Given the description of an element on the screen output the (x, y) to click on. 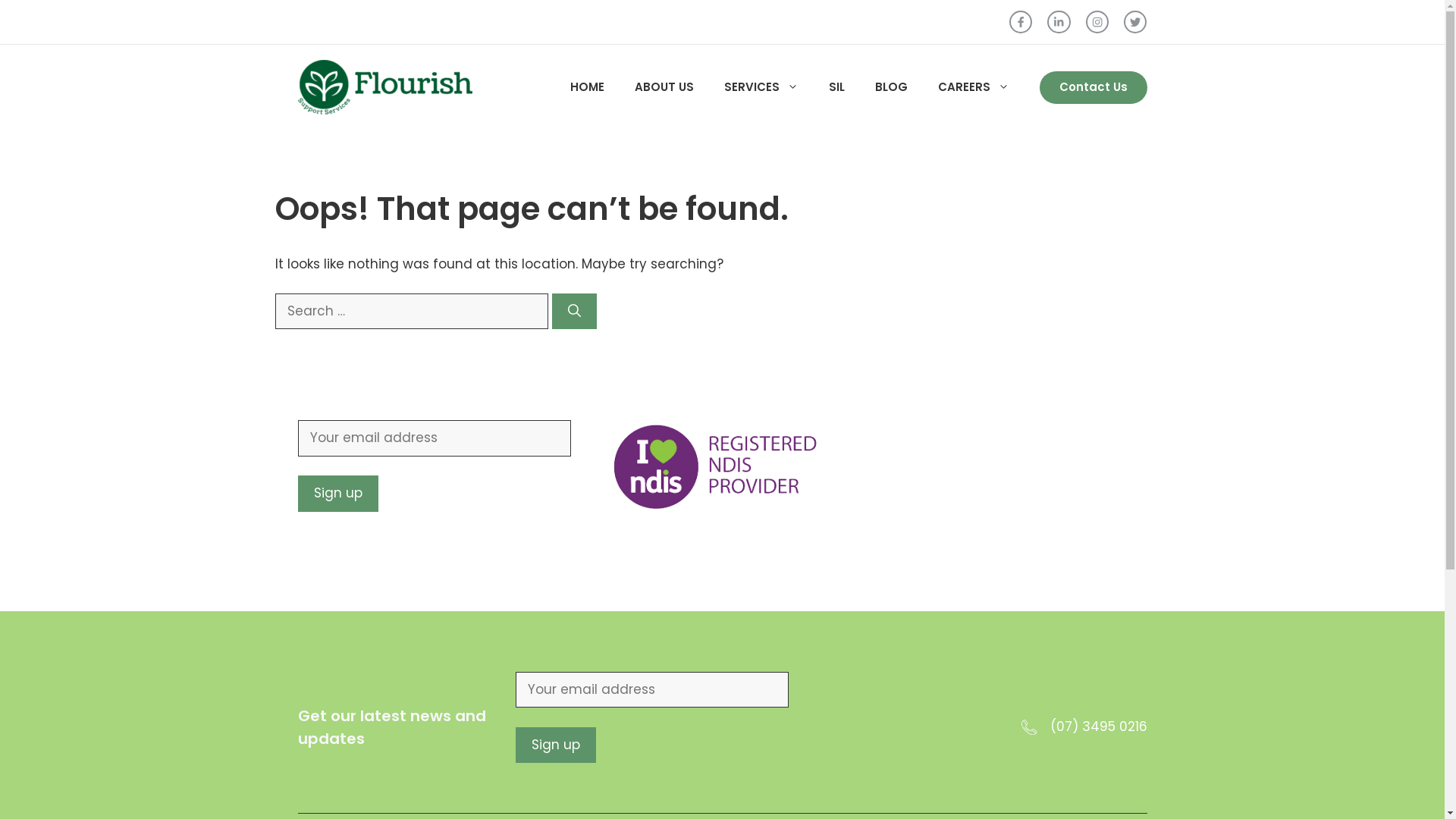
Contact Us Element type: text (1092, 87)
(07) 3495 0216 Element type: text (1097, 726)
Sign up Element type: text (337, 493)
HOME Element type: text (587, 86)
CAREERS Element type: text (972, 86)
ABOUT US Element type: text (663, 86)
Search for: Element type: hover (410, 311)
BLOG Element type: text (890, 86)
SERVICES Element type: text (760, 86)
SIL Element type: text (835, 86)
Sign up Element type: text (555, 745)
